Given the description of an element on the screen output the (x, y) to click on. 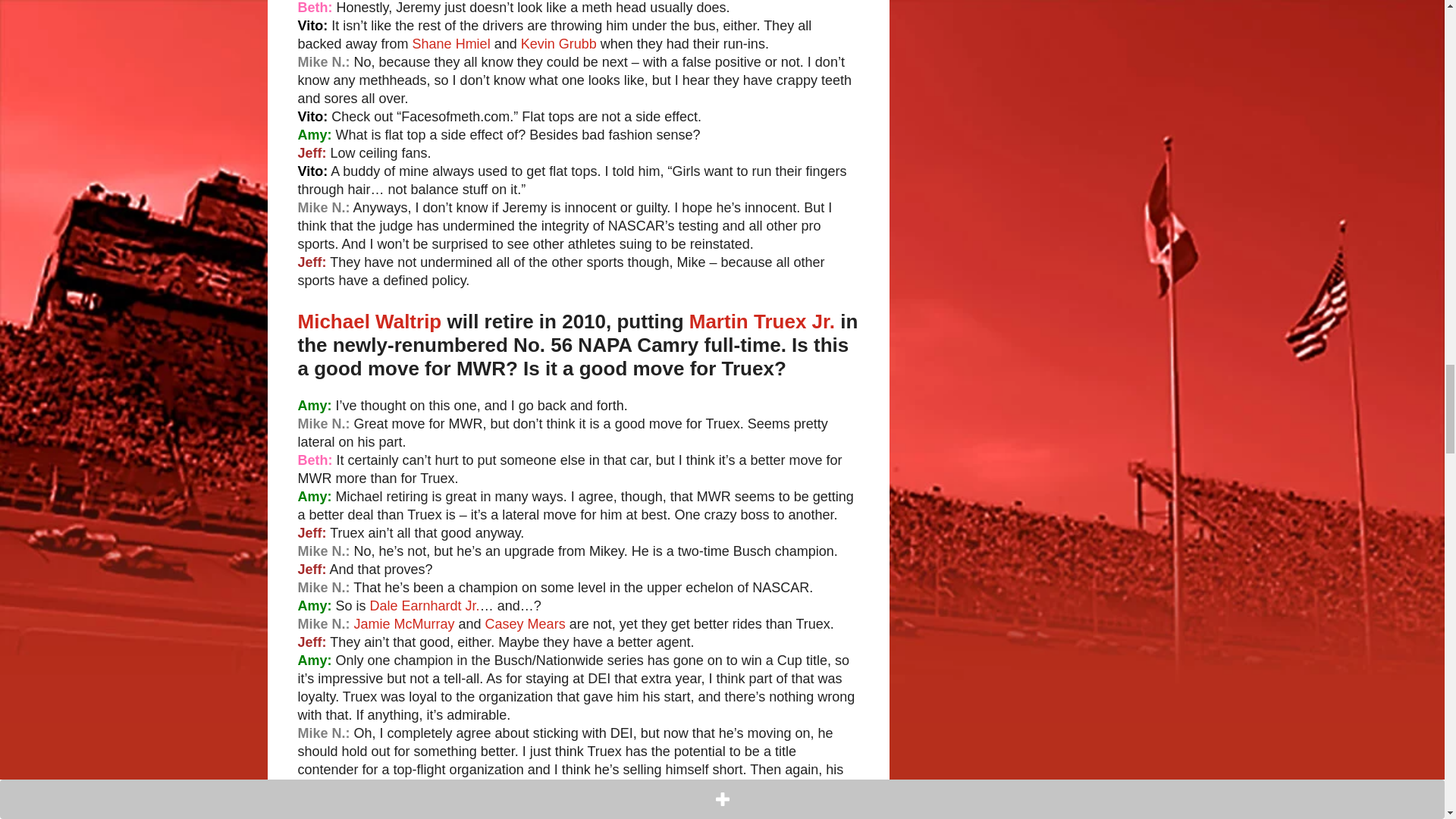
Michael Waltrip (369, 321)
Shane Hmiel (451, 43)
Kevin Grubb (558, 43)
Dale Earnhardt Jr. (424, 605)
Jeff Gordon (355, 817)
Casey Mears (525, 623)
Jamie McMurray (403, 623)
Martin Truex Jr. (761, 321)
